Given the description of an element on the screen output the (x, y) to click on. 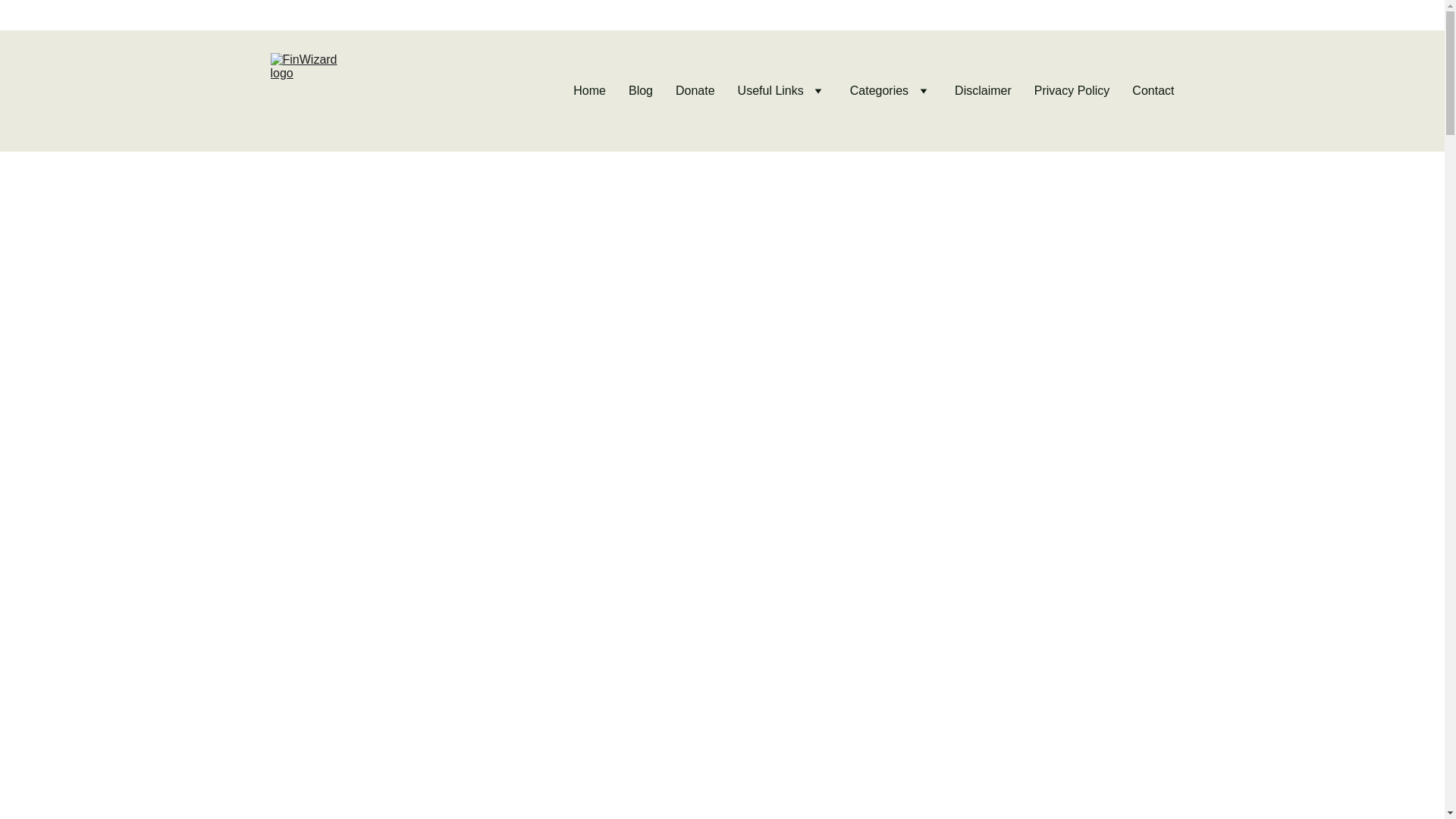
Blog (640, 90)
Privacy Policy (1071, 90)
Contact (1152, 90)
Home (589, 90)
Donate (694, 90)
Disclaimer (983, 90)
